Given the description of an element on the screen output the (x, y) to click on. 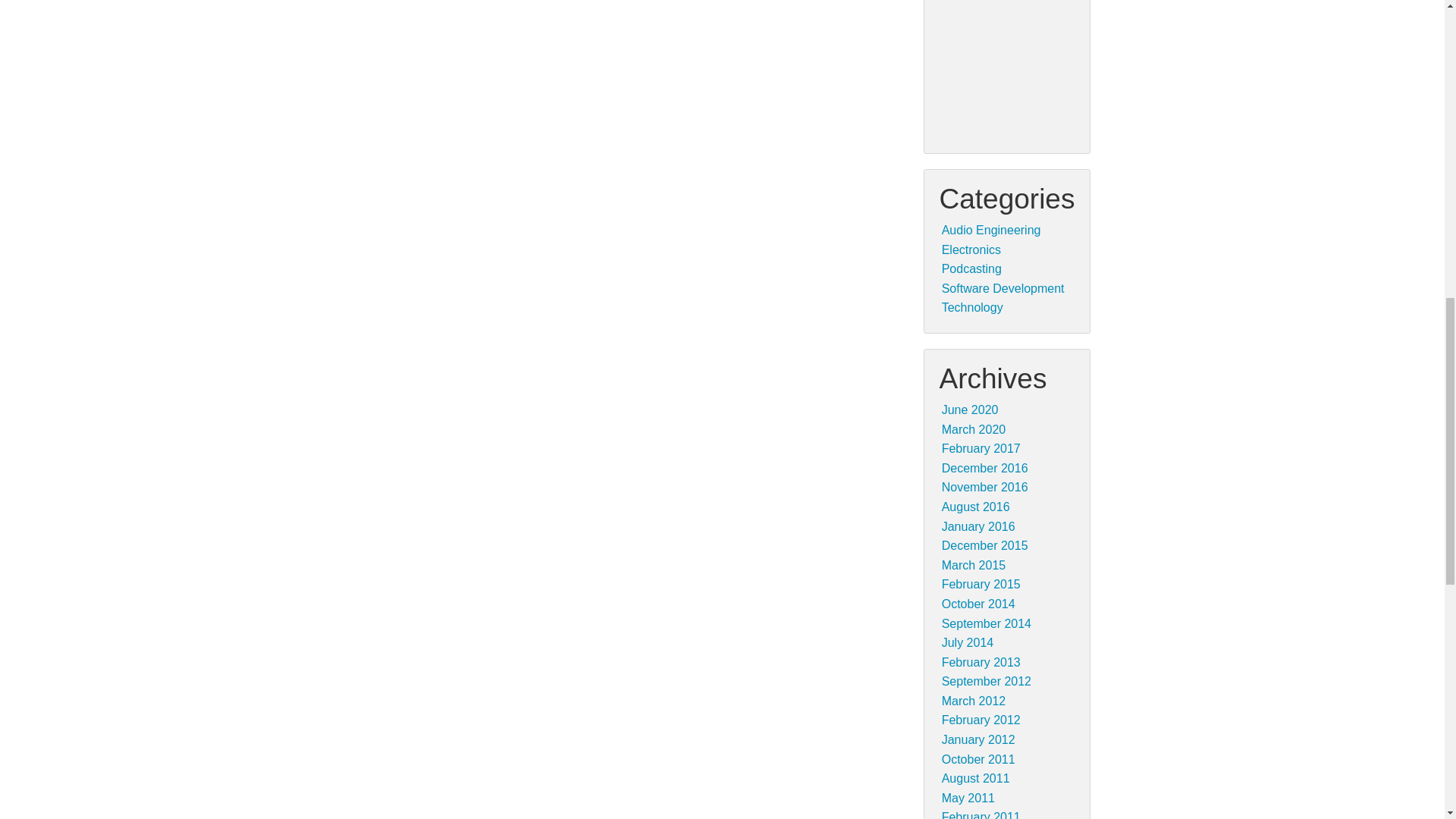
Electronics (971, 249)
February 2015 (981, 584)
October 2011 (978, 758)
May 2011 (968, 797)
Information about podcasting. (971, 268)
Audio Engineering (991, 229)
December 2016 (984, 468)
Software Development (1003, 287)
August 2011 (976, 778)
Information about audio engineering. (991, 229)
